Given the description of an element on the screen output the (x, y) to click on. 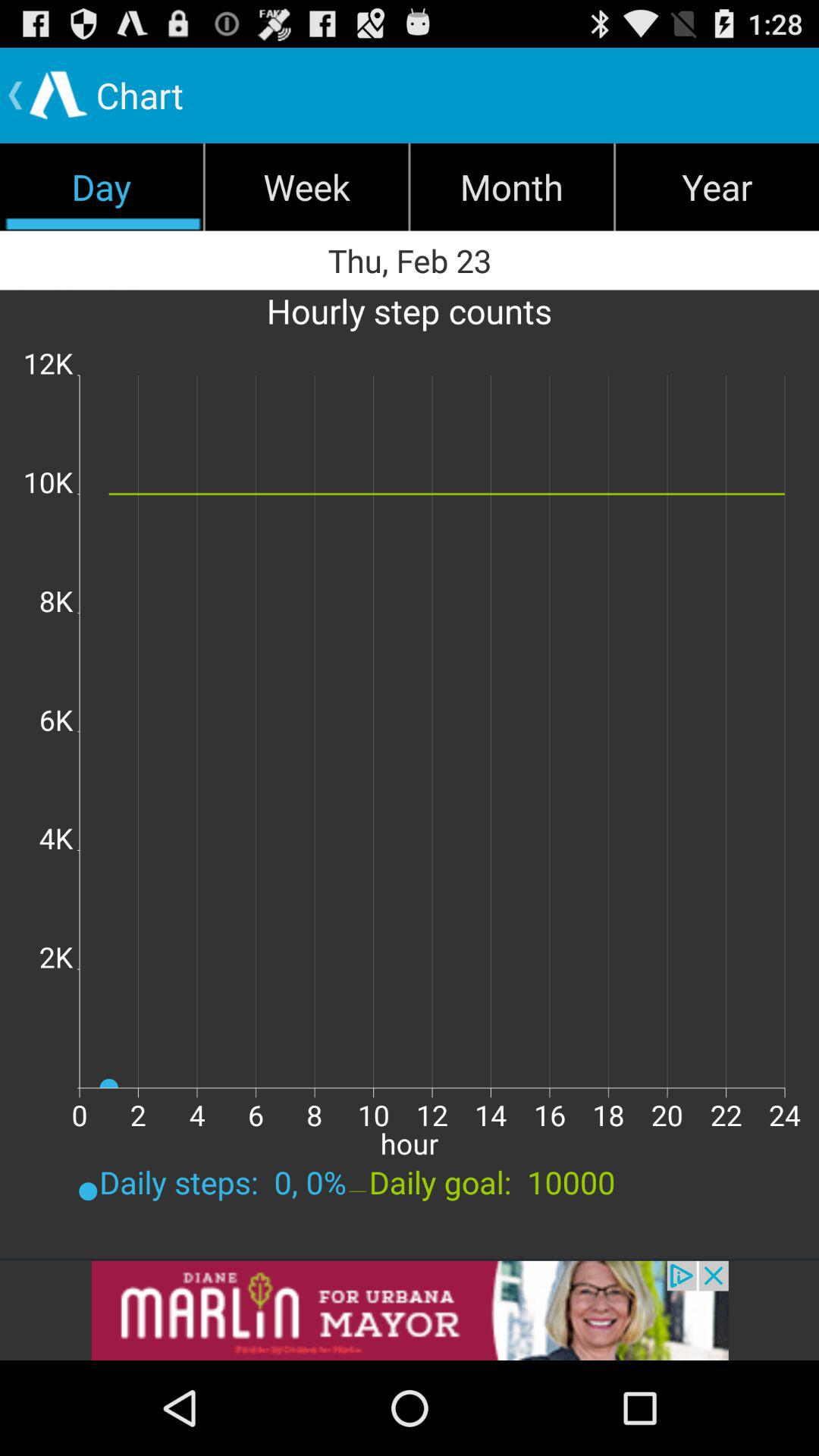
paid advertisement (409, 1310)
